Given the description of an element on the screen output the (x, y) to click on. 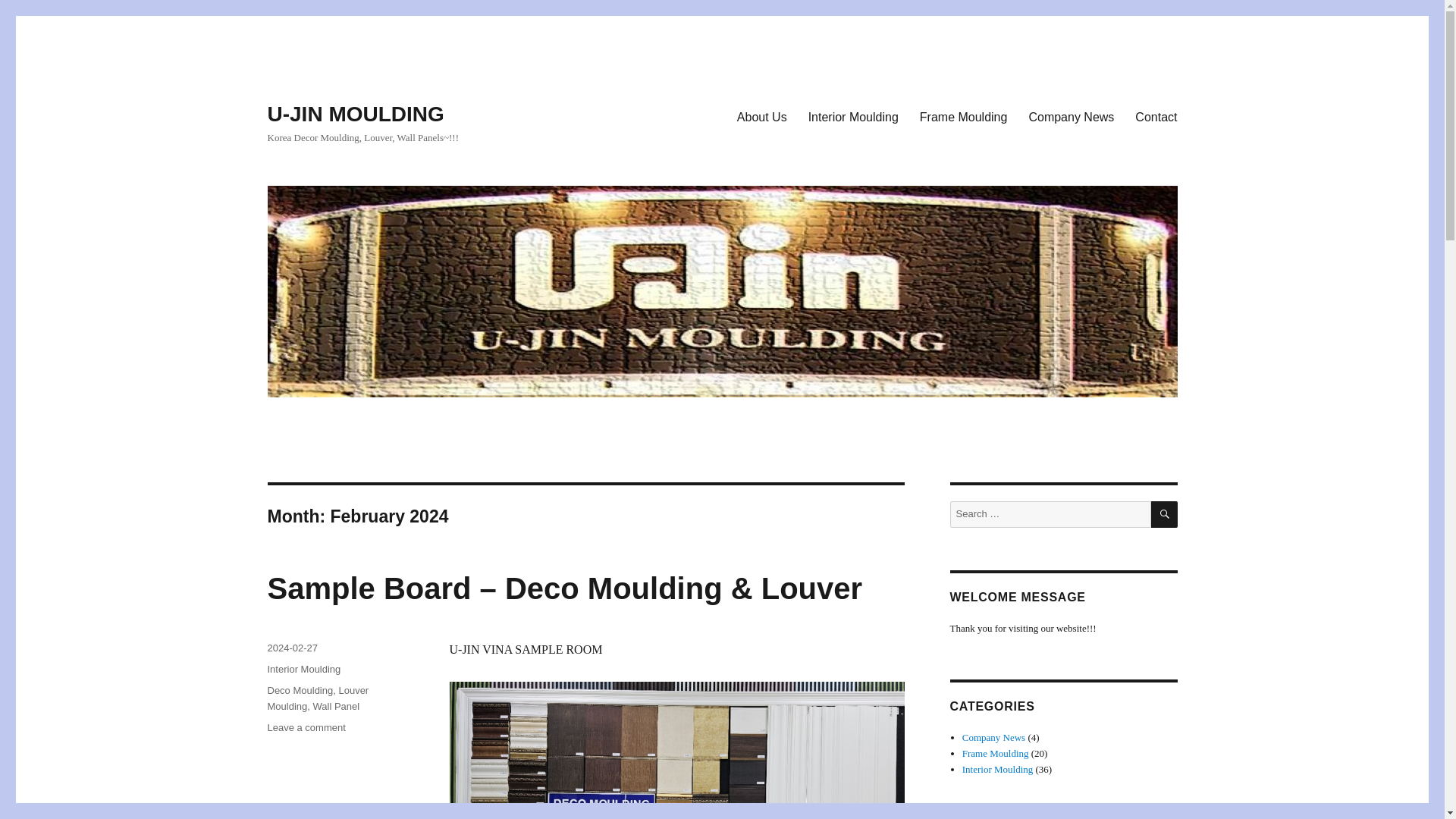
Frame Moulding (995, 753)
Frame Moulding (962, 116)
Contact (1156, 116)
Company News (993, 737)
Wall Panel (336, 706)
Company News (1070, 116)
About Us (761, 116)
Interior Moulding (852, 116)
Interior Moulding (997, 768)
Louver Moulding (317, 697)
SEARCH (1164, 514)
Deco Moulding (299, 690)
U-JIN MOULDING (355, 114)
Search for: (1049, 514)
Interior Moulding (303, 668)
